Given the description of an element on the screen output the (x, y) to click on. 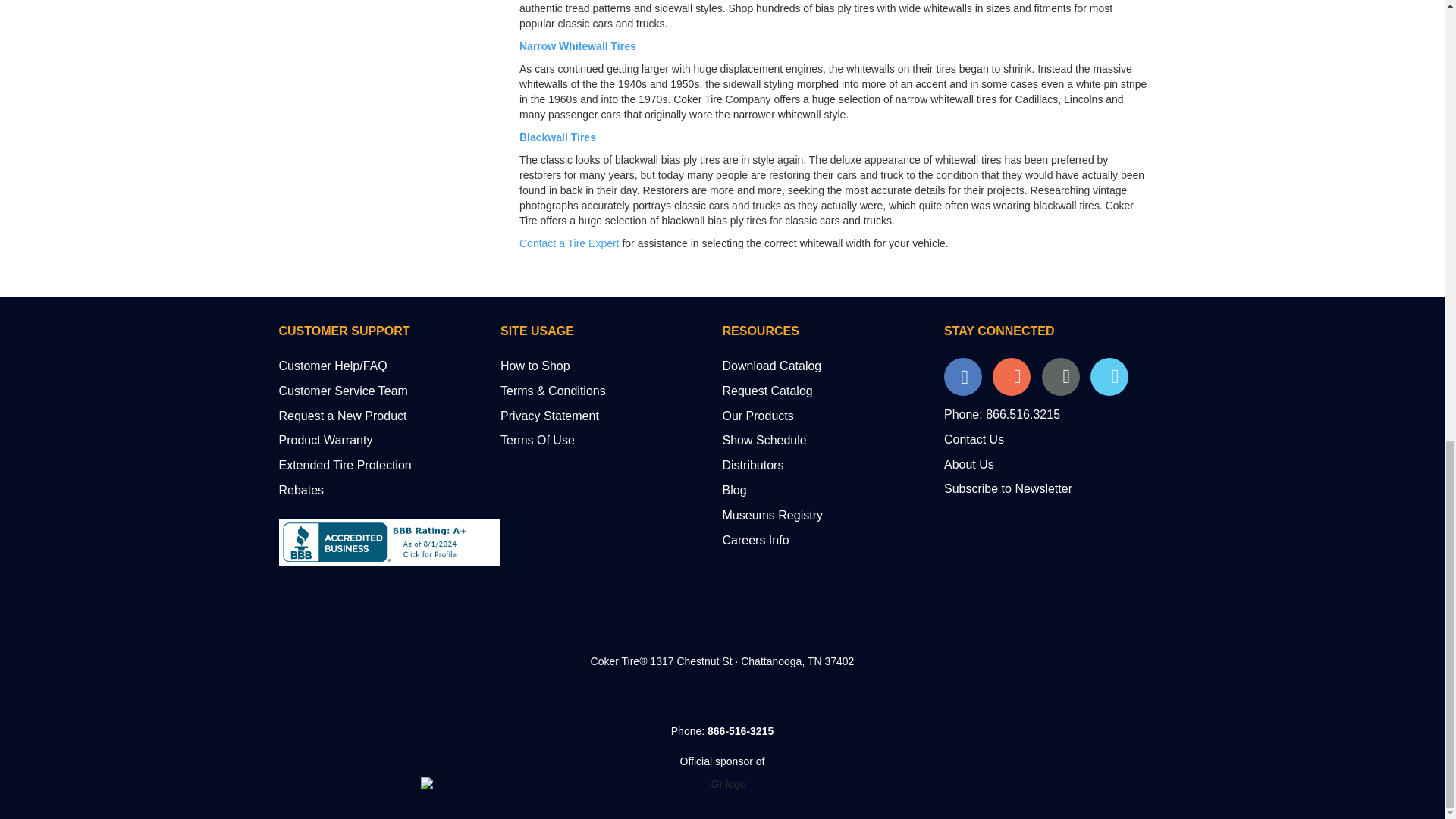
Contact a Tire Expert (569, 243)
